Given the description of an element on the screen output the (x, y) to click on. 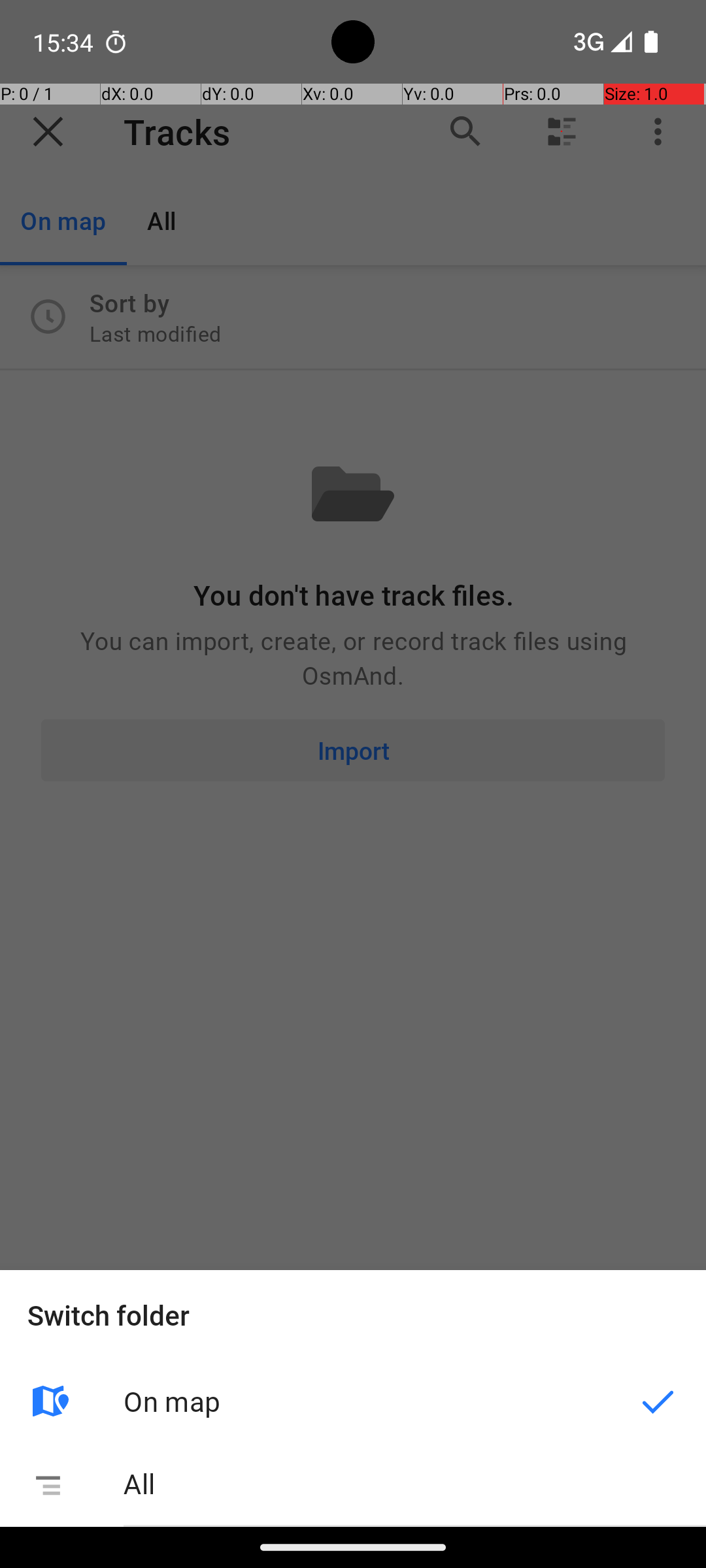
Switch folder Element type: android.widget.TextView (353, 1314)
On map Element type: android.widget.TextView (366, 1400)
All Element type: android.widget.TextView (414, 1483)
